Given the description of an element on the screen output the (x, y) to click on. 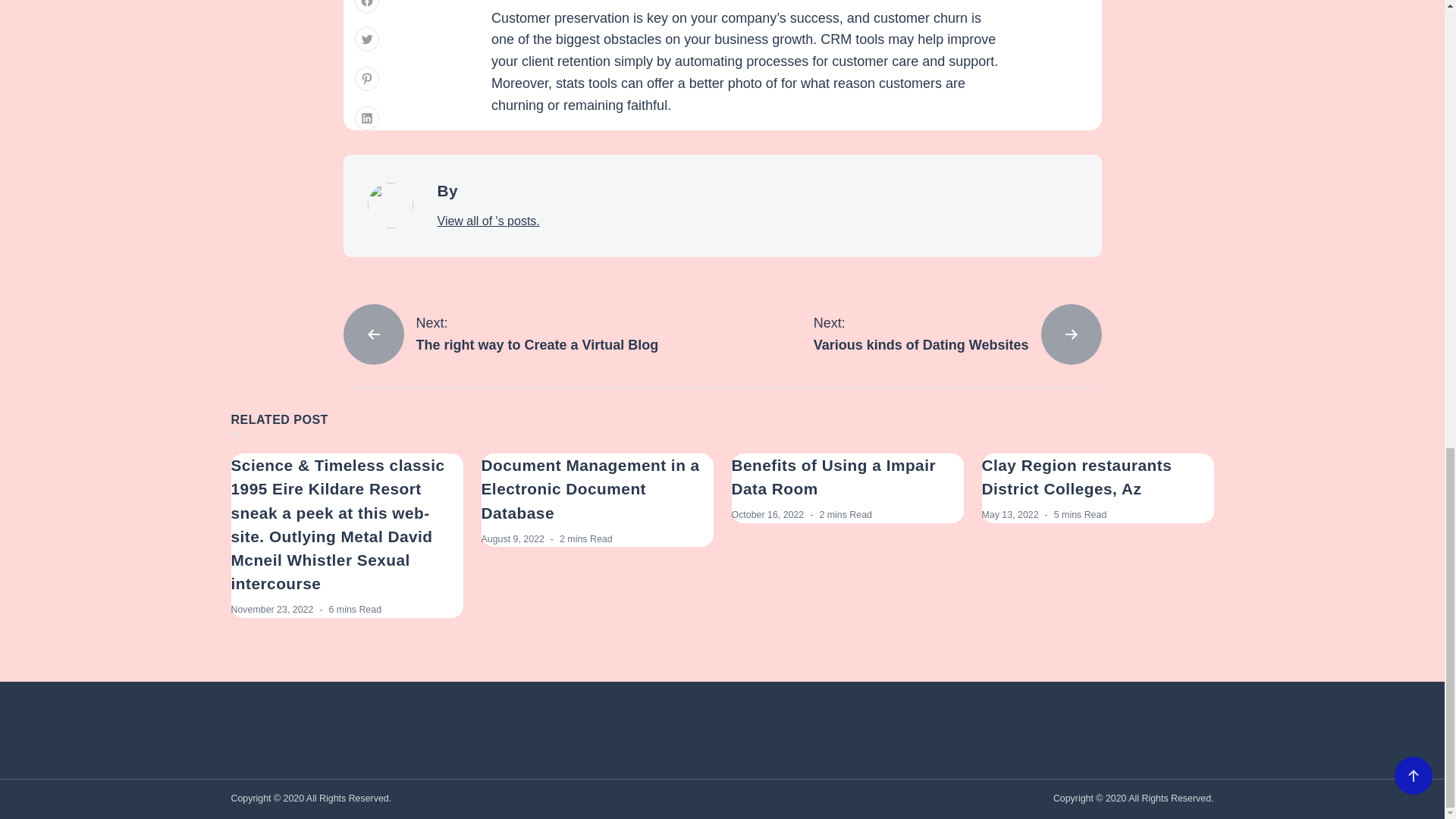
View all of 's posts. (487, 220)
Clay Region restaurants District Colleges, Az (957, 333)
August 9, 2022 (1076, 476)
November 23, 2022 (511, 538)
Document Management in a Electronic Document Database (271, 609)
October 16, 2022 (589, 488)
Benefits of Using a Impair Data Room (766, 514)
